Given the description of an element on the screen output the (x, y) to click on. 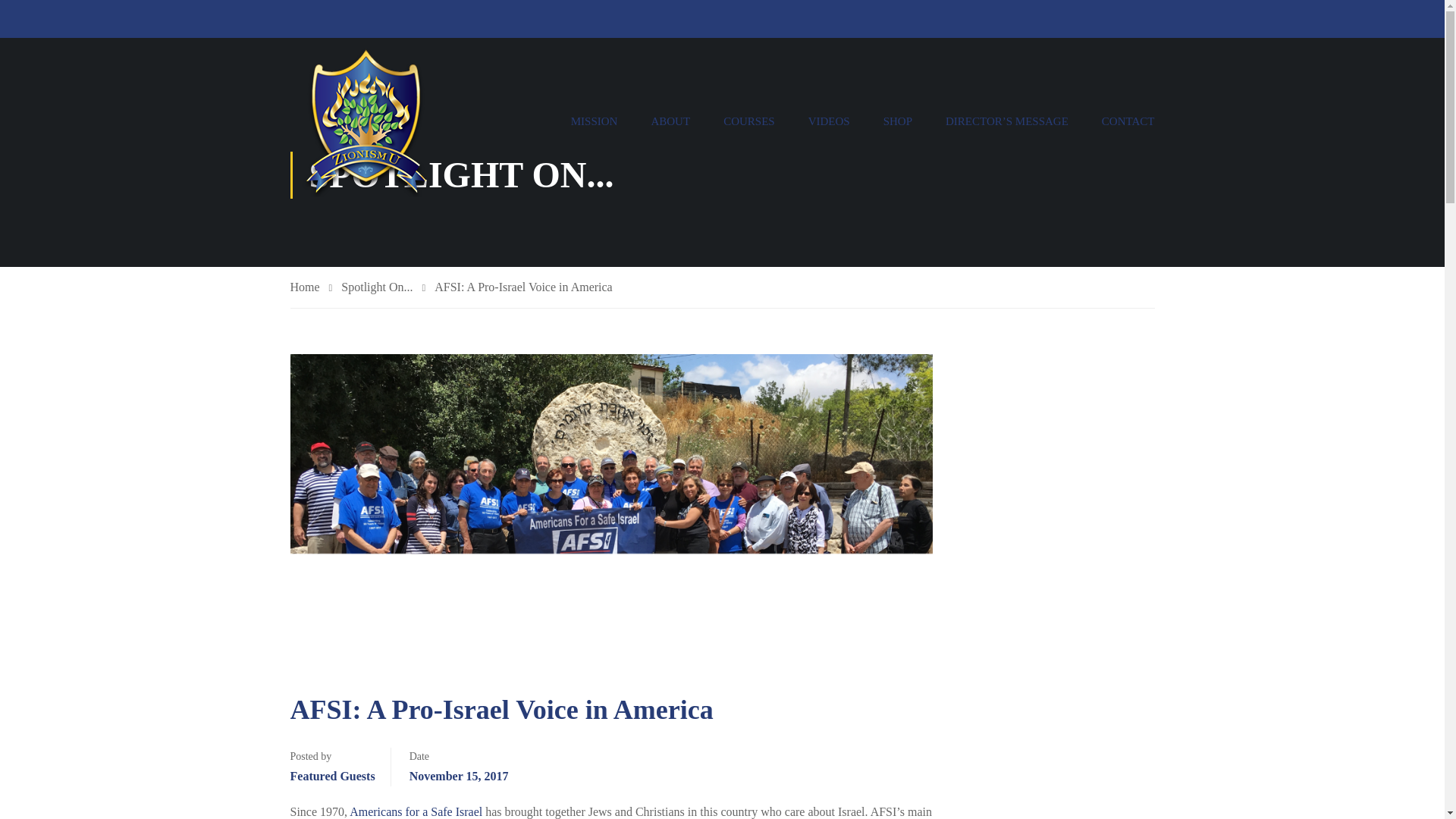
Home (310, 287)
CONTACT (1120, 121)
ABOUT (669, 121)
COURSES (748, 121)
VIDEOS (828, 121)
Featured Guests (331, 775)
Spotlight On... (382, 287)
SHOP (897, 121)
MISSION (594, 121)
Zionism U -  (365, 121)
